Given the description of an element on the screen output the (x, y) to click on. 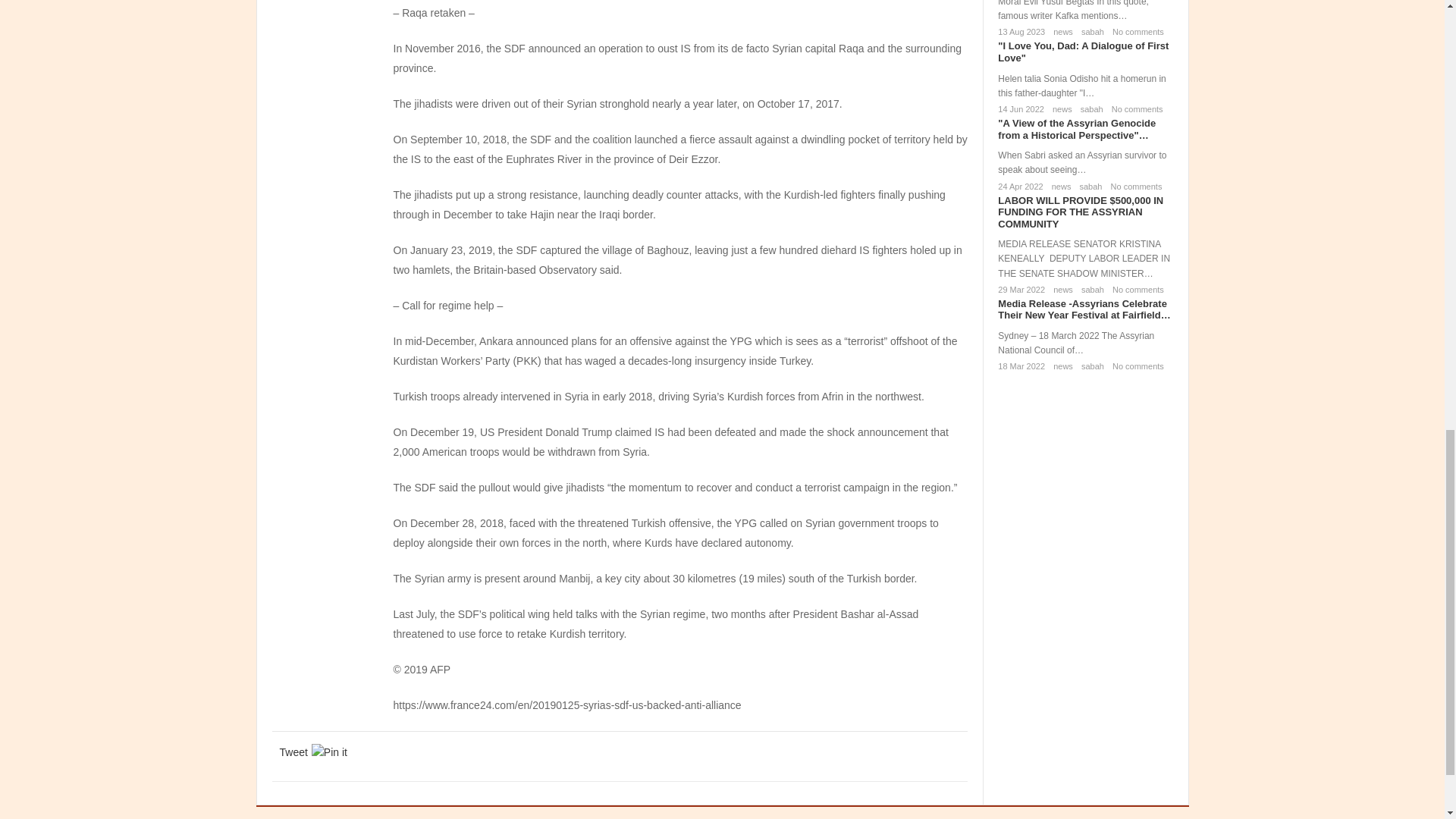
I Love You, Dad: A Dialogue of First Love (1083, 51)
Pin it (329, 751)
Tweet (293, 751)
